Given the description of an element on the screen output the (x, y) to click on. 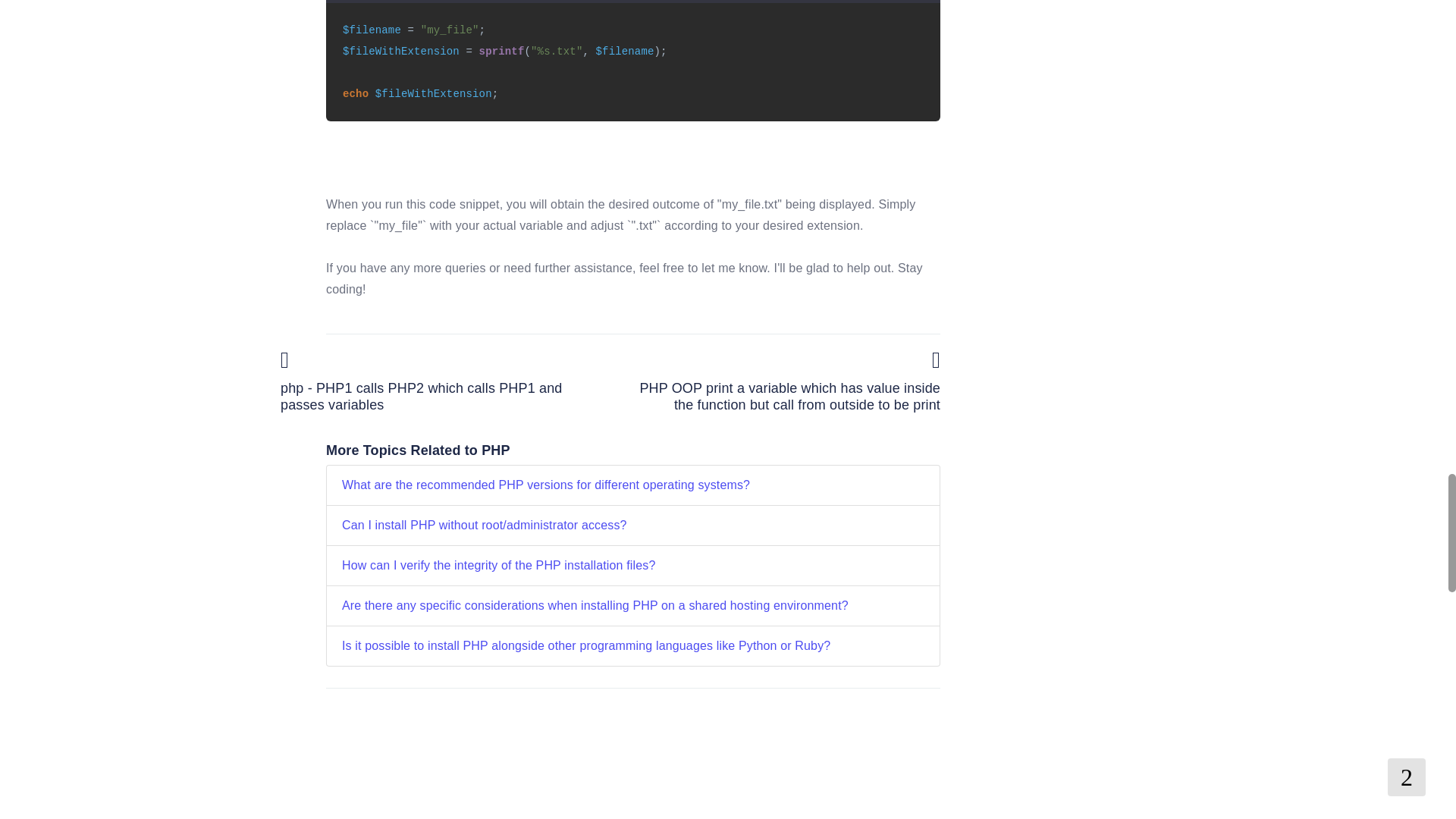
Advertisement (1073, 94)
